Given the description of an element on the screen output the (x, y) to click on. 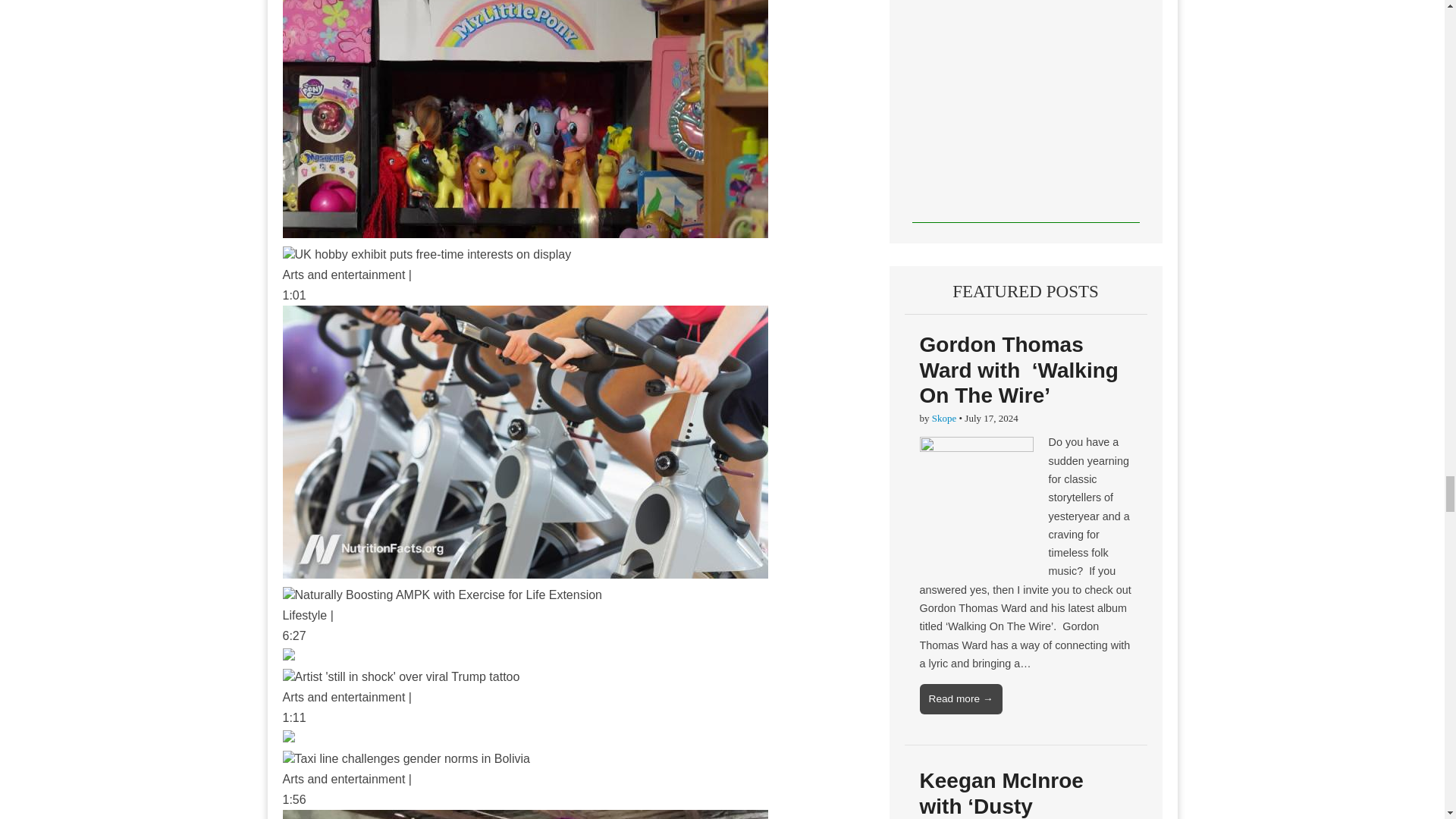
Posts by Skope (943, 418)
